Given the description of an element on the screen output the (x, y) to click on. 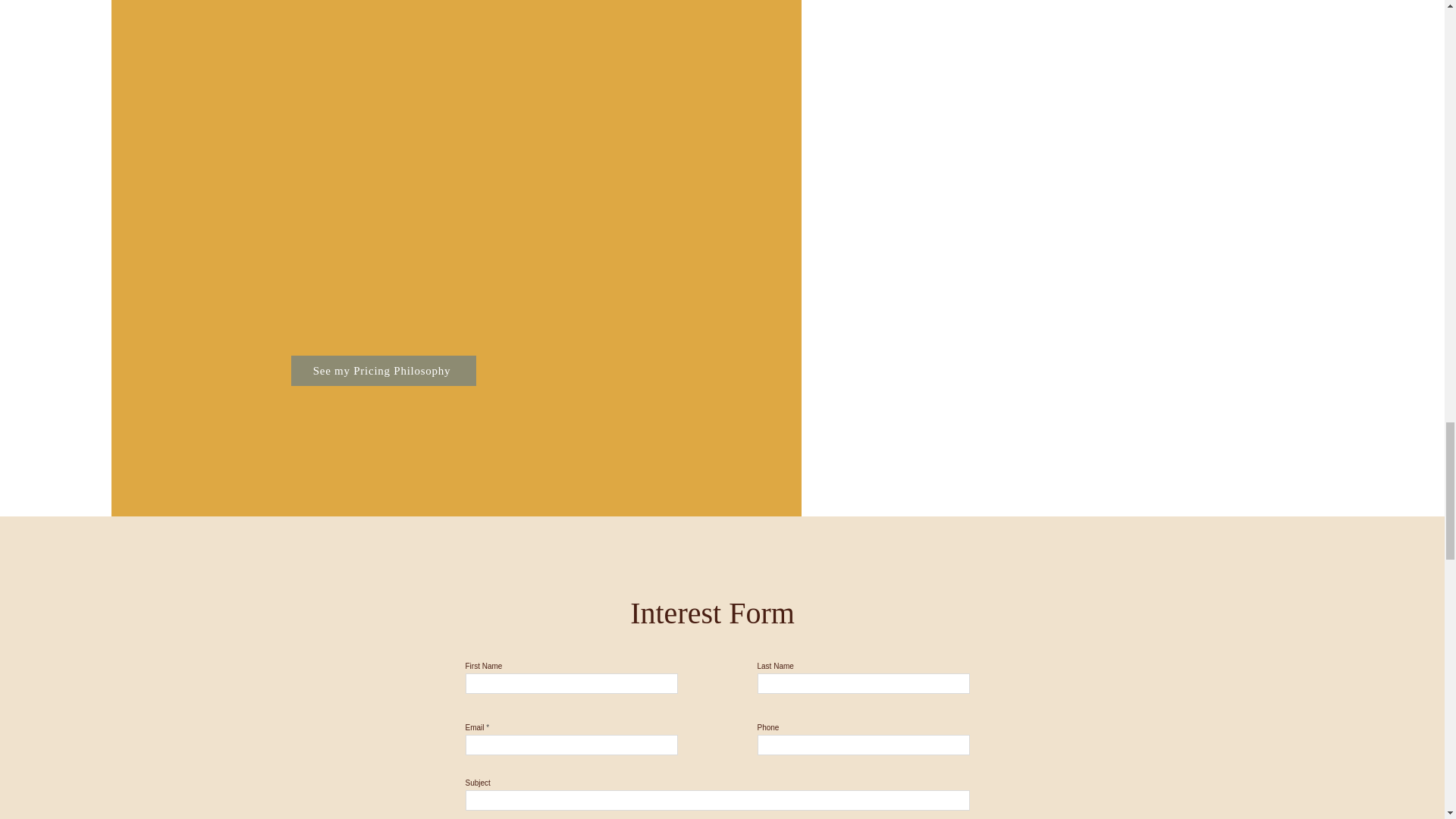
See my Pricing Philosophy (383, 370)
